Given the description of an element on the screen output the (x, y) to click on. 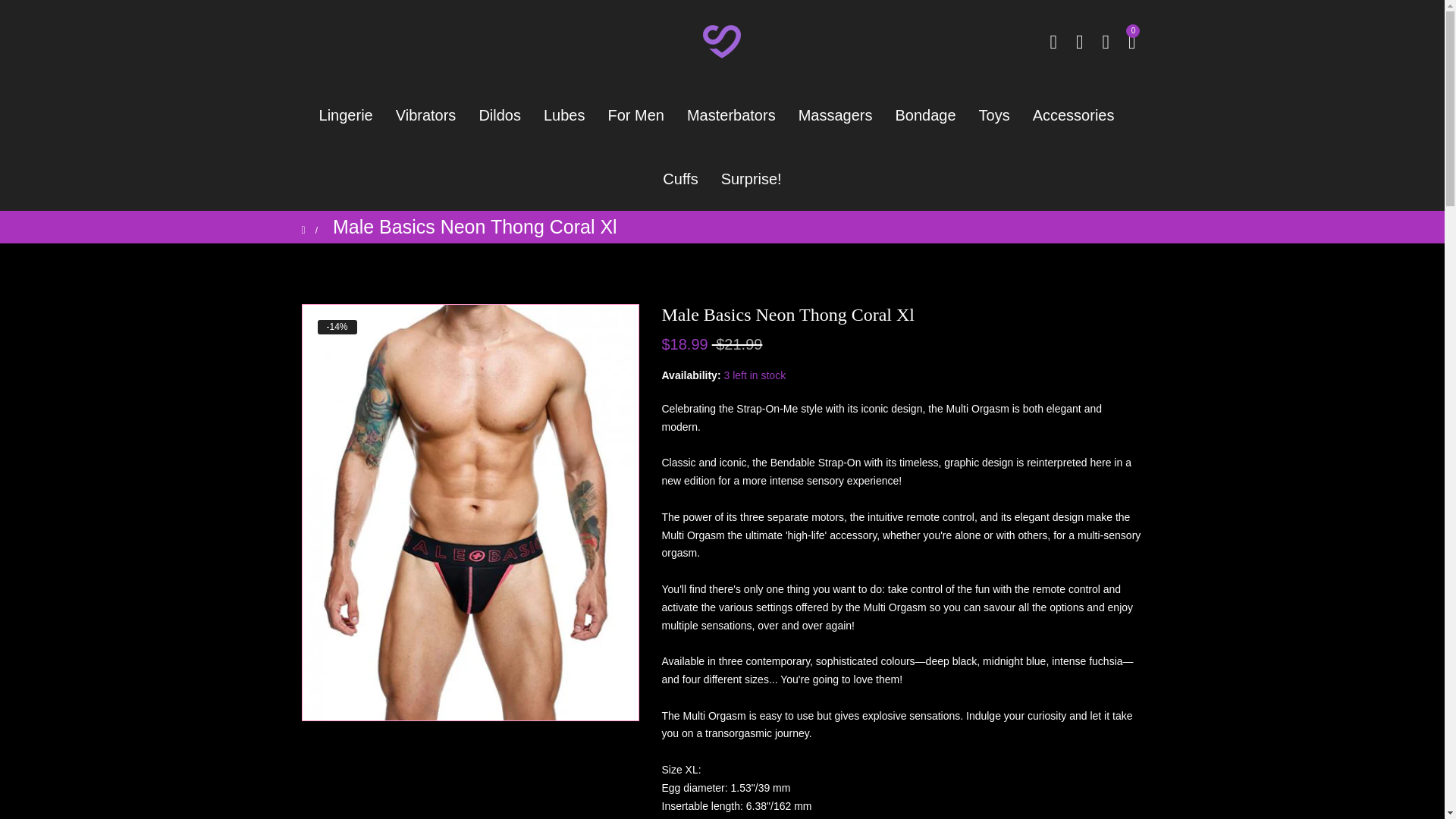
For Men (635, 115)
Lingerie (351, 115)
Accessories (1073, 115)
Vibrators (425, 115)
Massagers (835, 115)
Surprise! (751, 178)
Masterbators (731, 115)
Bondage (924, 115)
Lubes (564, 115)
Cuffs (679, 178)
